Given the description of an element on the screen output the (x, y) to click on. 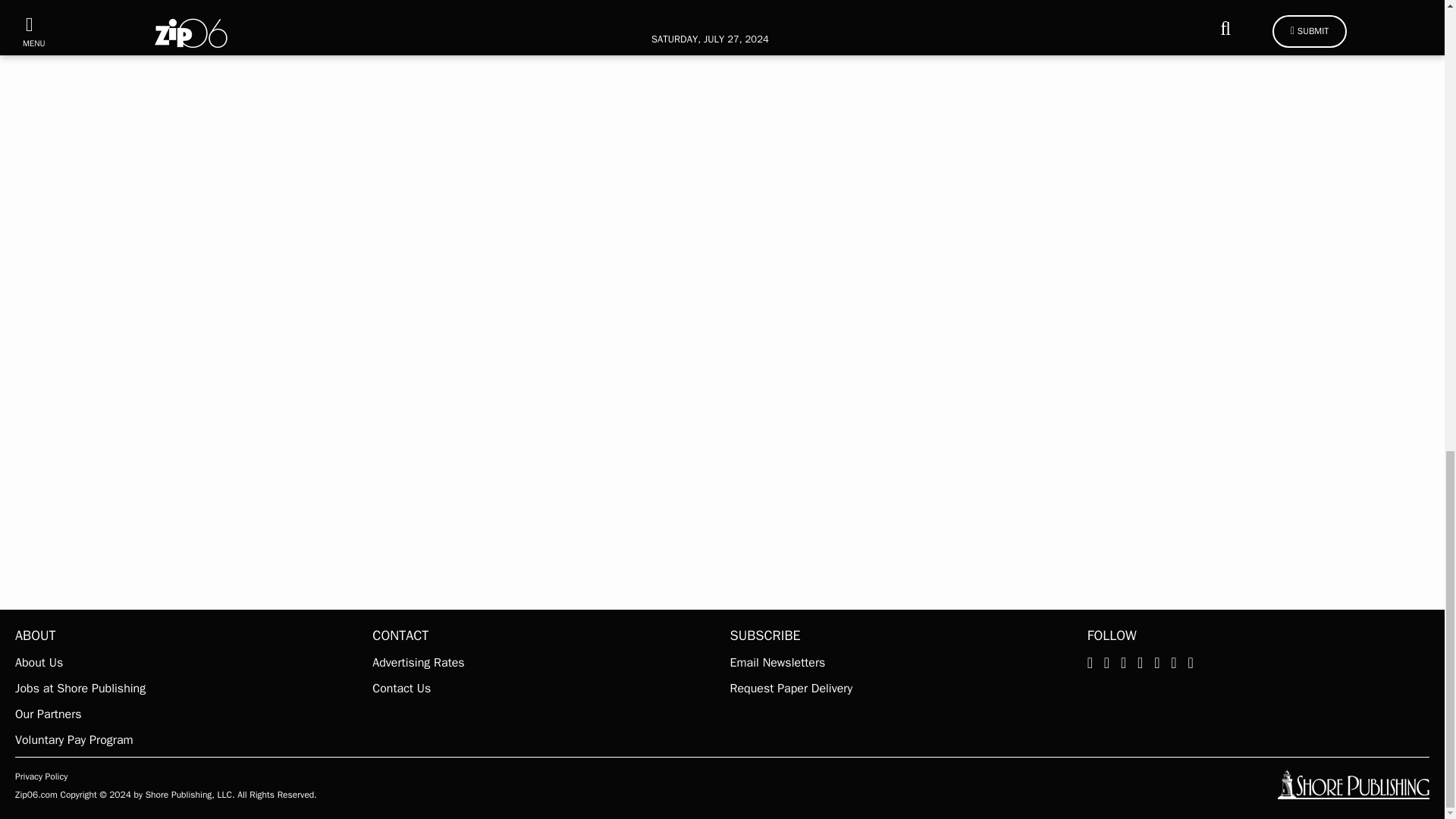
Voluntary Pay Program (185, 740)
Our Partners (185, 714)
About Us (185, 662)
Advertising Rates (543, 662)
Jobs at Shore Publishing (185, 688)
